Given the description of an element on the screen output the (x, y) to click on. 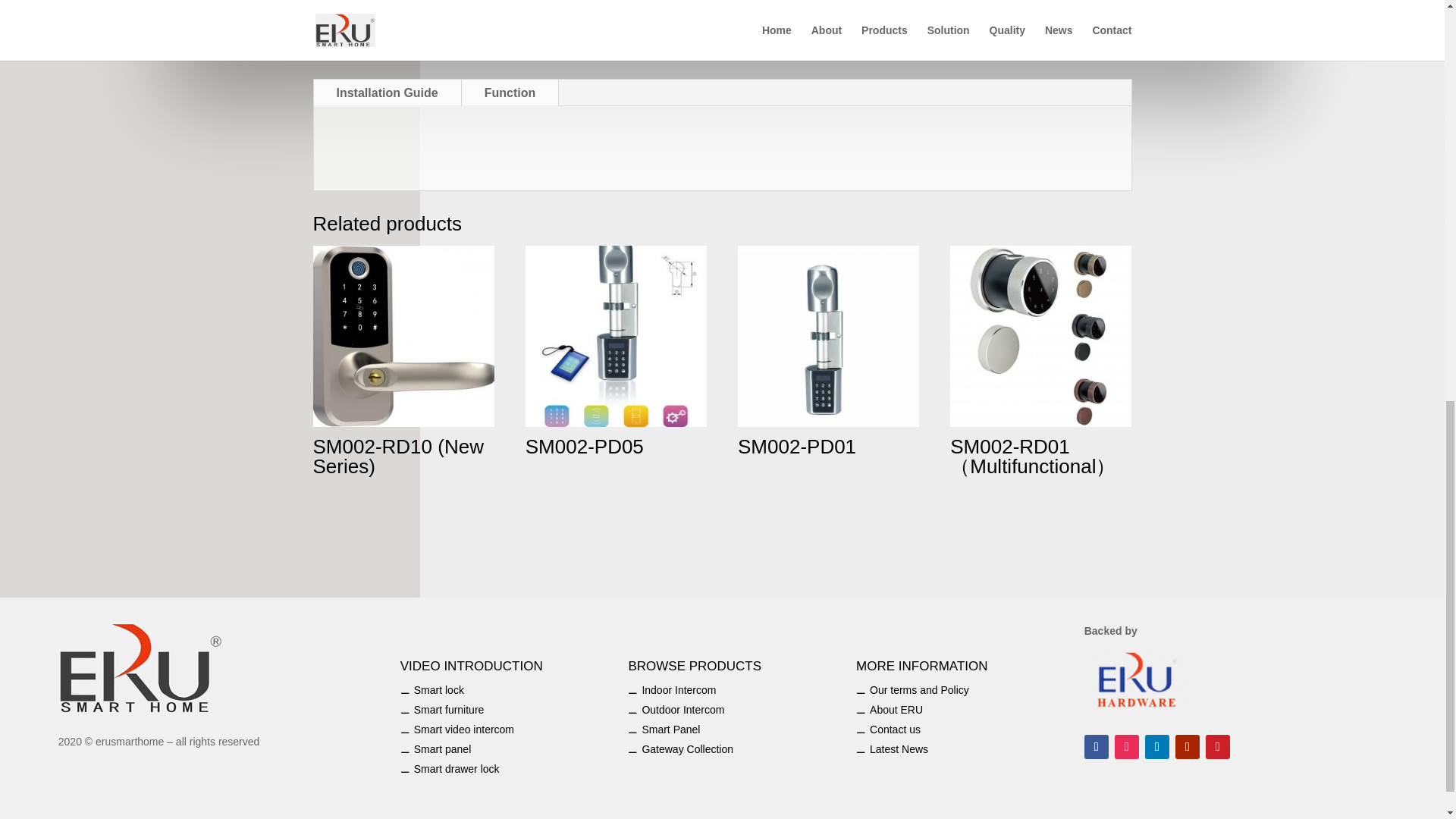
Follow on Instagram (1126, 746)
Follow on Pinterest (1217, 746)
Follow on LinkedIn (1156, 746)
Follow on Facebook (1096, 746)
eru-smart-home-logo-mc (141, 667)
Follow on Youtube (1186, 746)
